Given the description of an element on the screen output the (x, y) to click on. 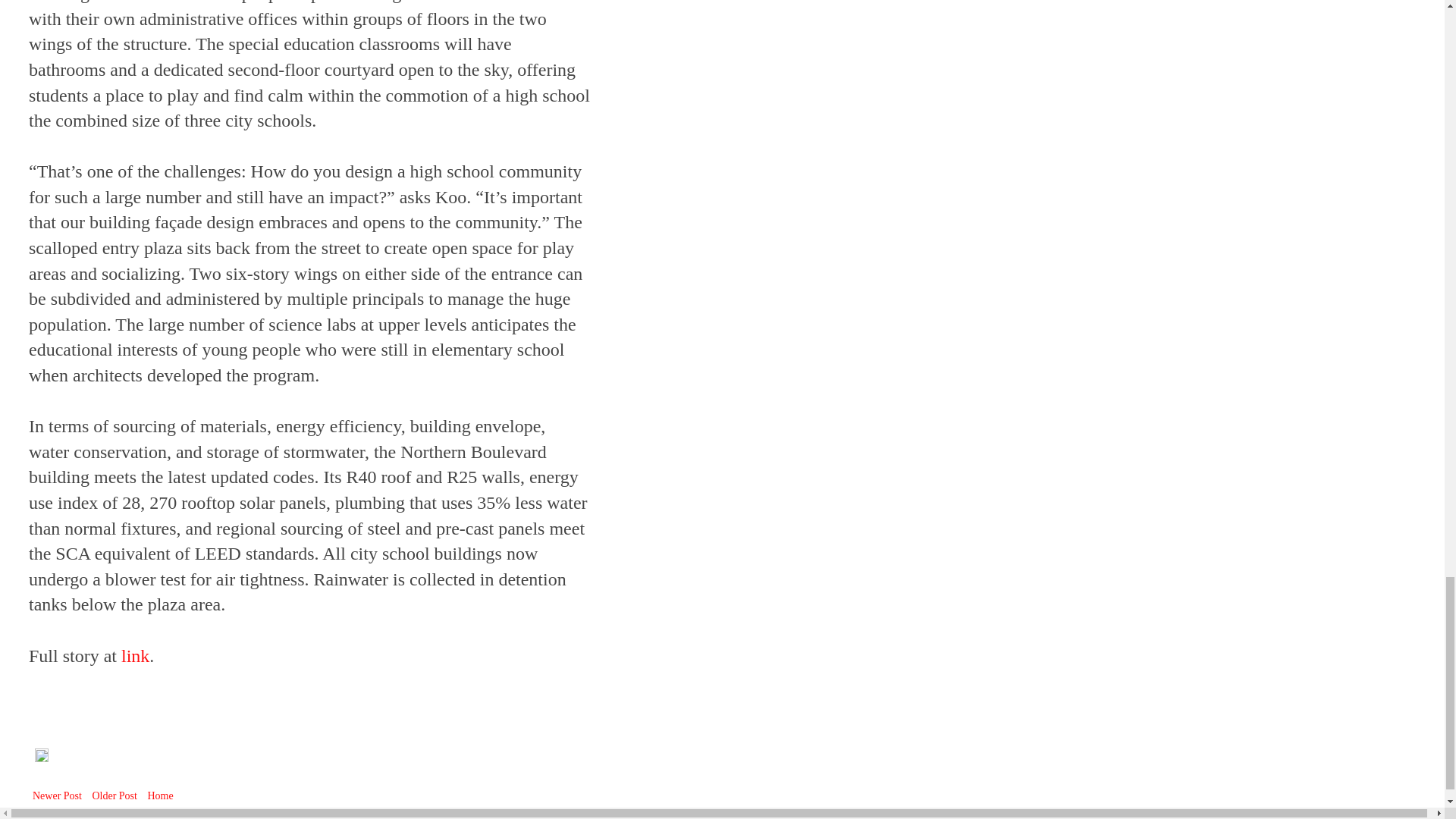
Older Post (114, 795)
link (134, 655)
Home (159, 795)
Edit Post (41, 758)
Newer Post (57, 795)
Older Post (114, 795)
Newer Post (57, 795)
